Given the description of an element on the screen output the (x, y) to click on. 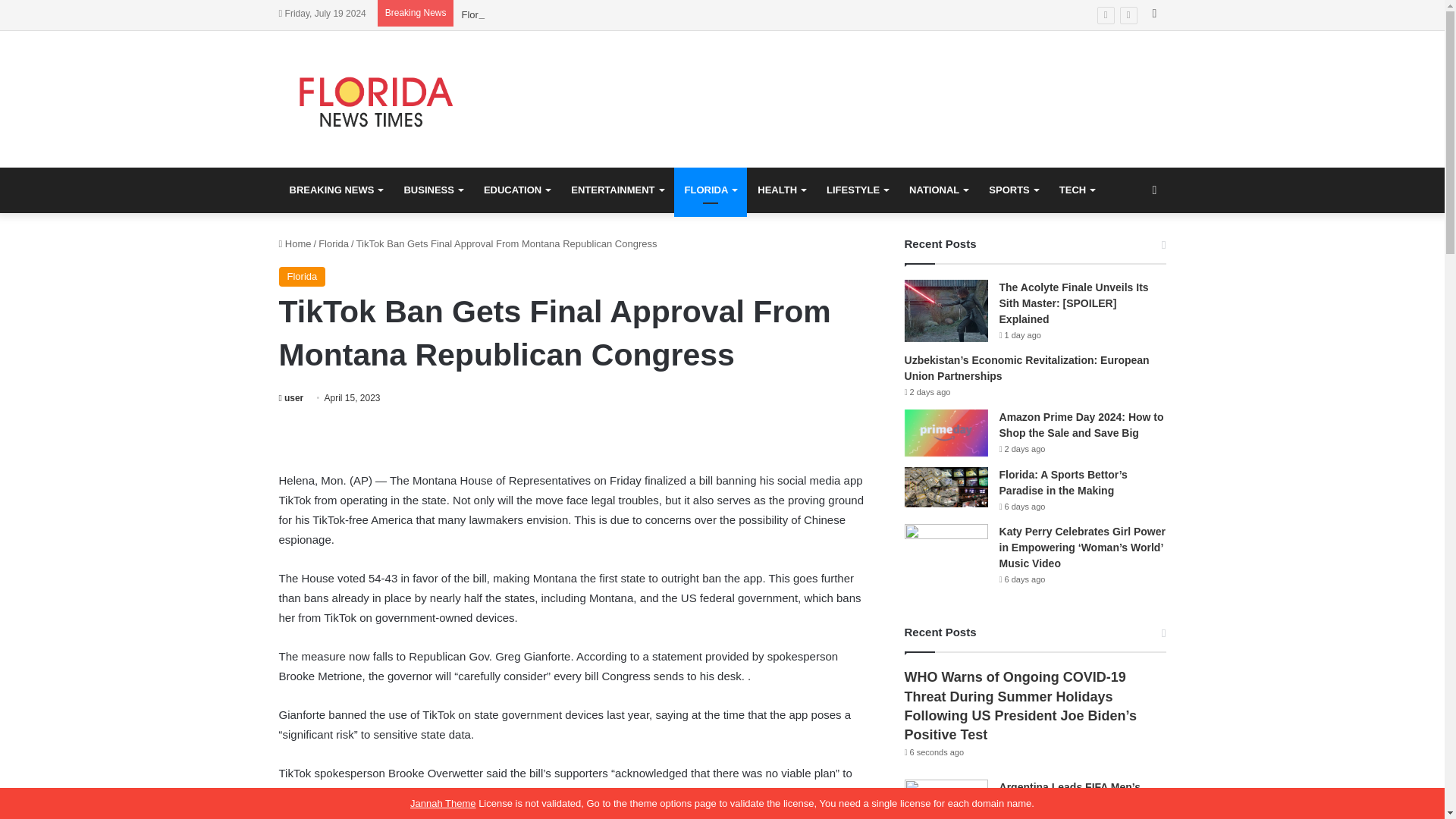
HEALTH (780, 189)
Florida (302, 276)
FLORIDA (709, 189)
SPORTS (1013, 189)
user (291, 398)
Florida (333, 243)
Home (295, 243)
Random Article (1154, 189)
TECH (1076, 189)
EDUCATION (516, 189)
BUSINESS (432, 189)
Floridanewstimes.com (377, 99)
LIFESTYLE (856, 189)
user (291, 398)
BREAKING NEWS (336, 189)
